Given the description of an element on the screen output the (x, y) to click on. 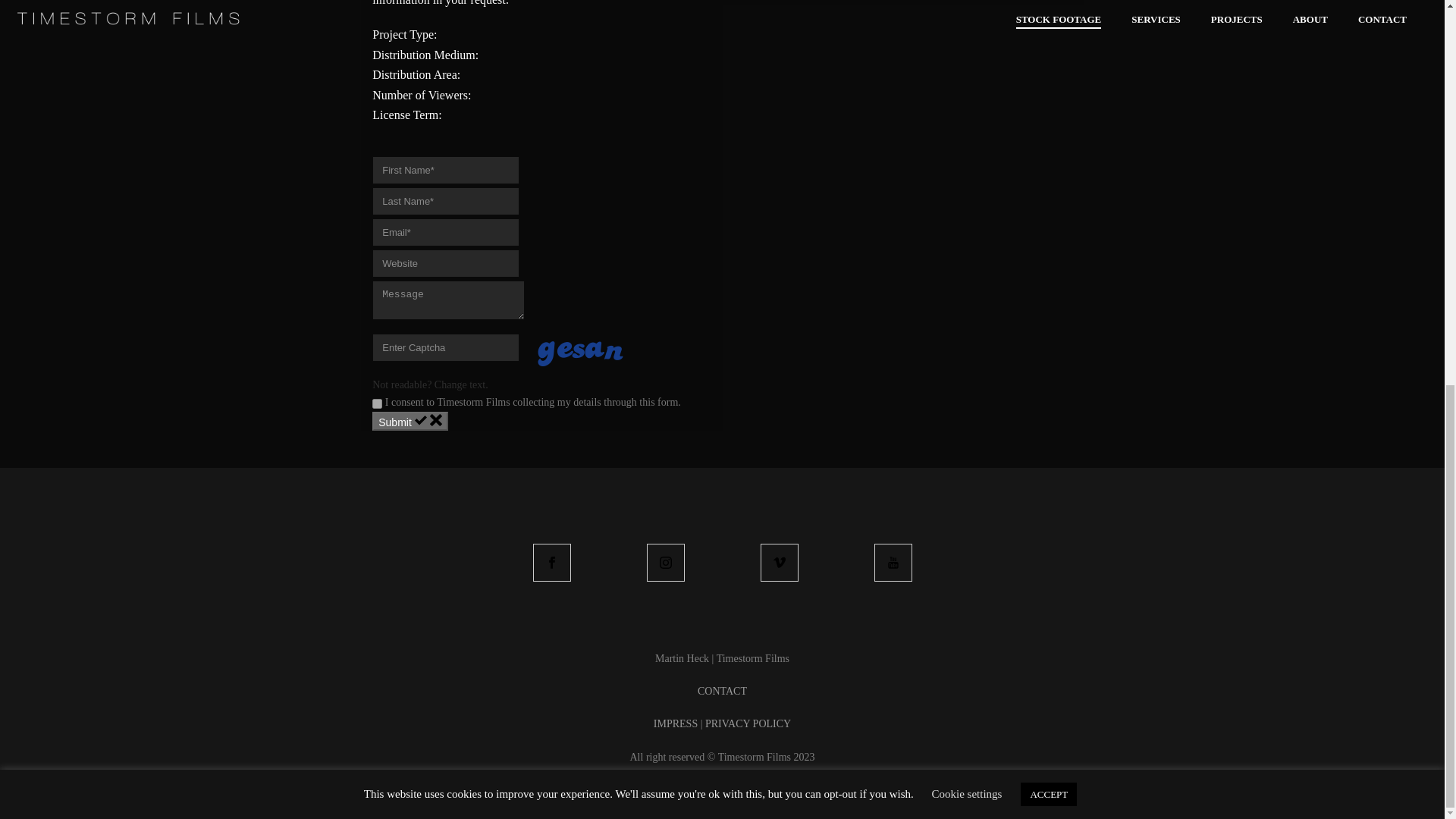
Submit (409, 420)
 facebook (551, 562)
IMPRESS (675, 723)
ACCEPT (1048, 69)
Not readable? Change text. (429, 384)
 instagram (665, 562)
 youtube (892, 562)
PRIVACY POLICY (747, 723)
 vimeo (778, 562)
CONTACT (721, 690)
Cookie settings (967, 69)
